Given the description of an element on the screen output the (x, y) to click on. 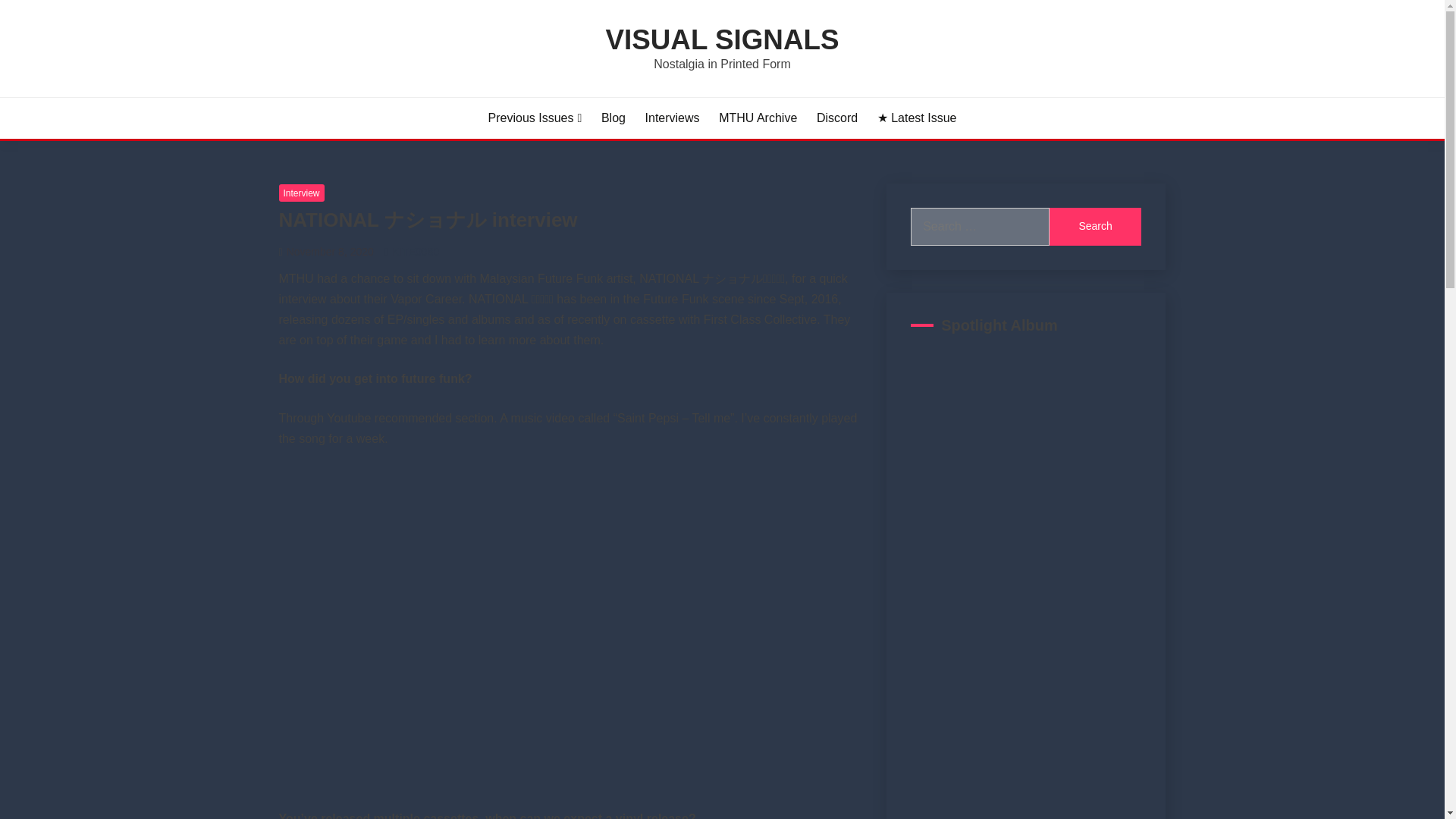
November 8, 2020 (330, 251)
Discord (836, 117)
VISUAL SIGNALS (721, 39)
Blog (613, 117)
Previous Issues (534, 117)
Search (1095, 226)
MTHU Archive (757, 117)
Interviews (672, 117)
KITE0080 (415, 251)
